Given the description of an element on the screen output the (x, y) to click on. 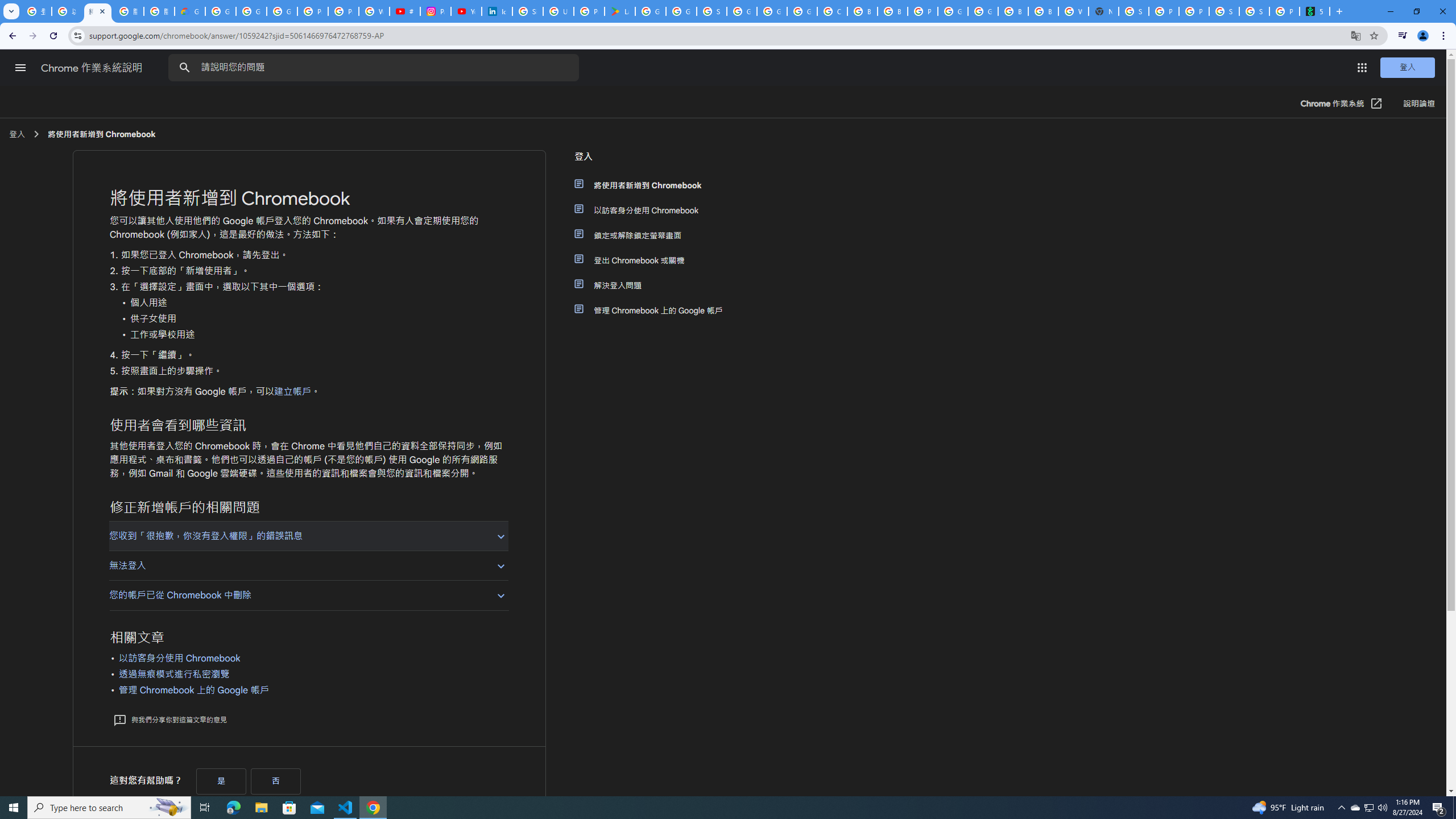
Translate this page (1355, 35)
Google Workspace - Specific Terms (681, 11)
Minimize (1390, 11)
